Given the description of an element on the screen output the (x, y) to click on. 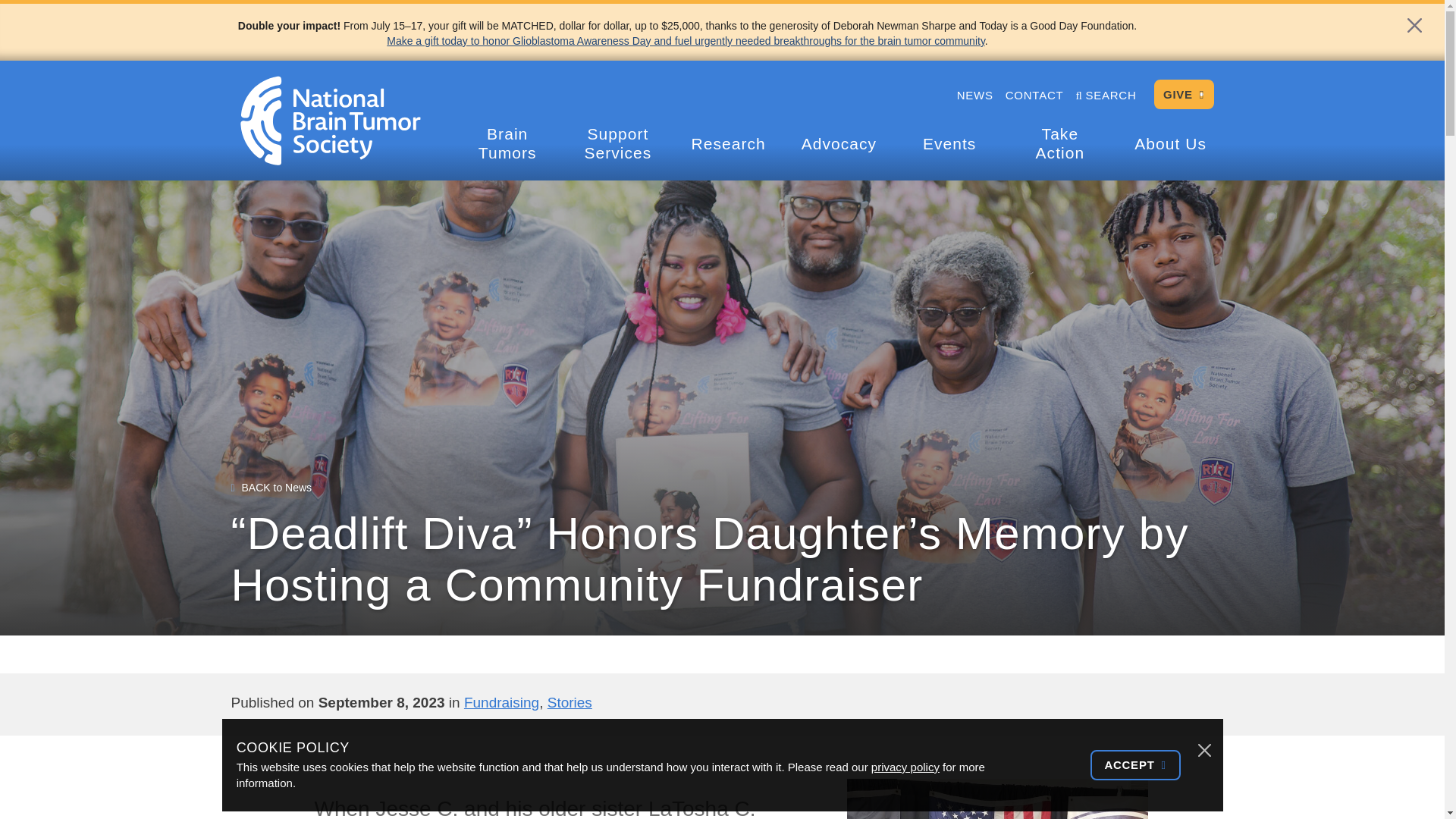
privacy policy (904, 766)
ACCEPT (1135, 765)
